Given the description of an element on the screen output the (x, y) to click on. 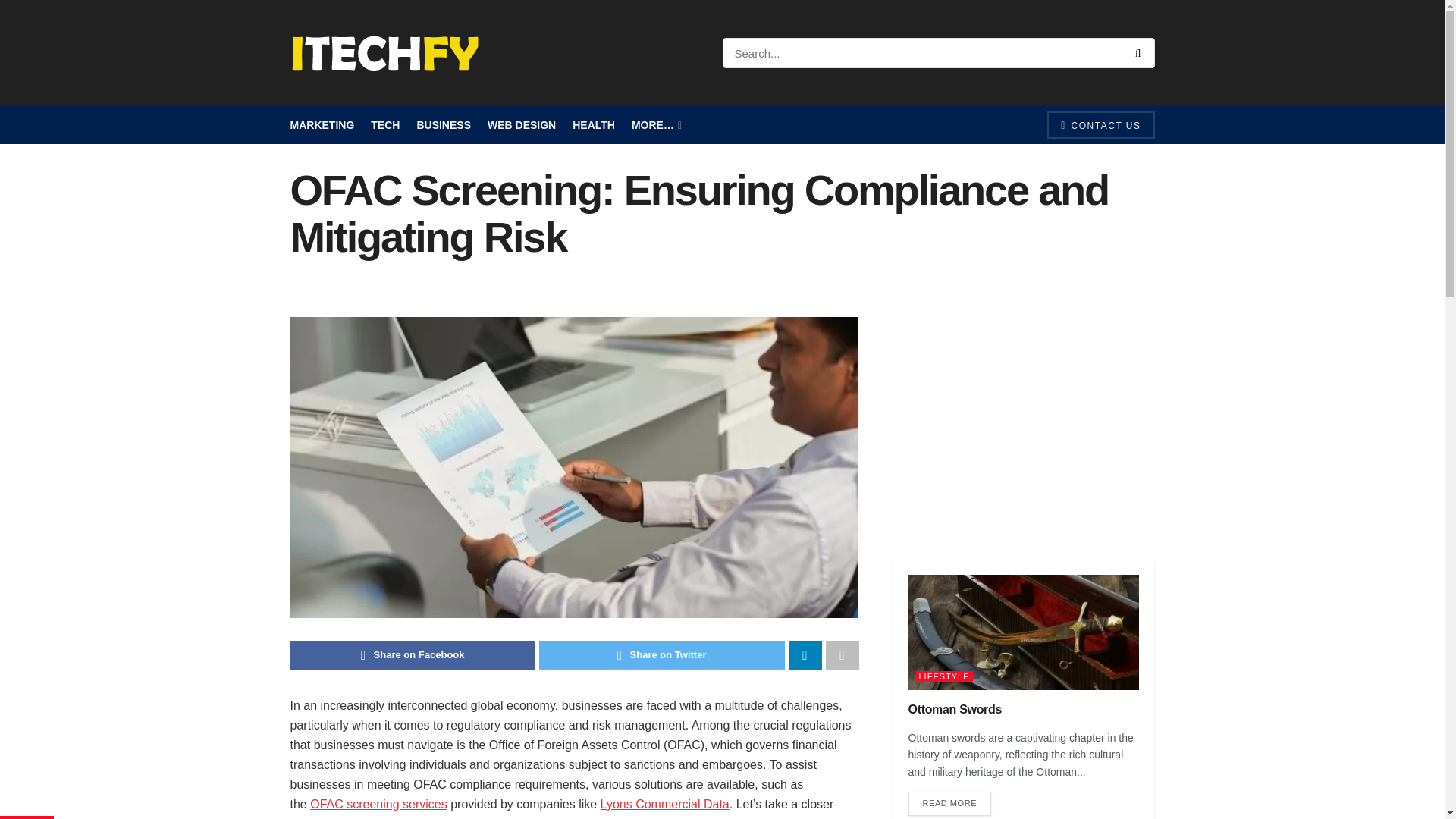
CONTACT US (1100, 124)
WEB DESIGN (521, 125)
MARKETING (321, 125)
HEALTH (593, 125)
BUSINESS (443, 125)
Advertisement (1023, 422)
